Given the description of an element on the screen output the (x, y) to click on. 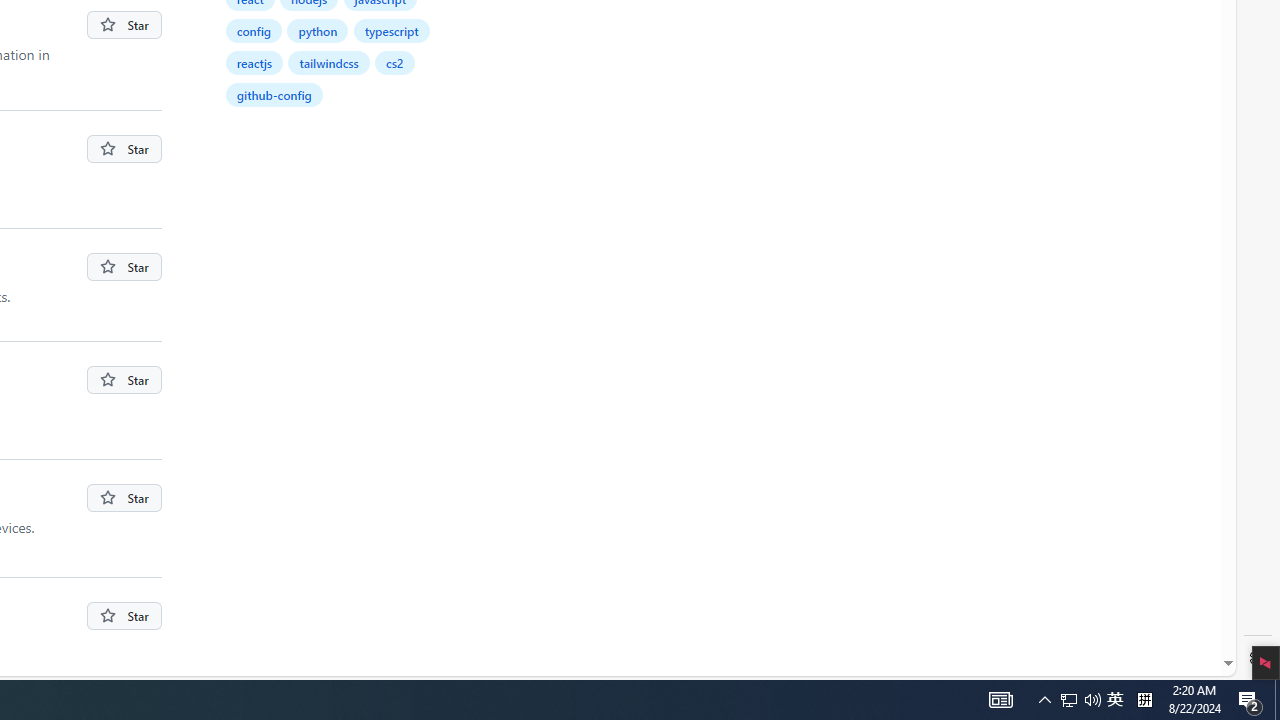
reactjs (255, 62)
python (317, 30)
github-config (275, 94)
typescript (391, 30)
cs2 (396, 62)
cs2 (394, 62)
reactjs (254, 62)
github-config (273, 94)
python (317, 30)
typescript (392, 30)
You must be signed in to star a repository (124, 615)
tailwindcss (328, 62)
config (253, 30)
tailwindcss (330, 62)
config (254, 30)
